Given the description of an element on the screen output the (x, y) to click on. 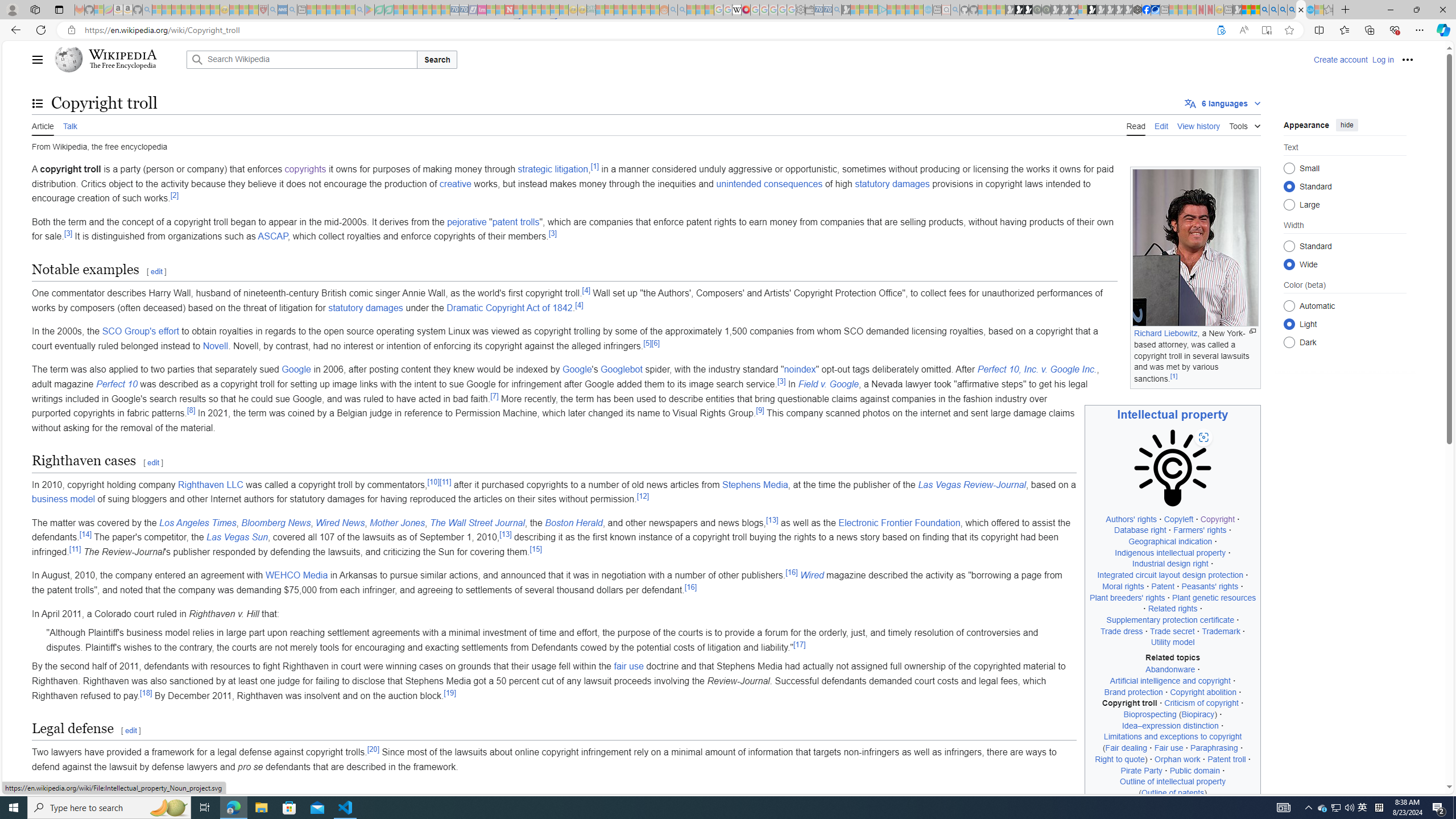
Industrial design right (1169, 563)
[13] (505, 533)
Patent (1162, 586)
[20] (373, 748)
fair use (627, 666)
Outline of intellectual property (Outline of patents) (1172, 787)
